Given the description of an element on the screen output the (x, y) to click on. 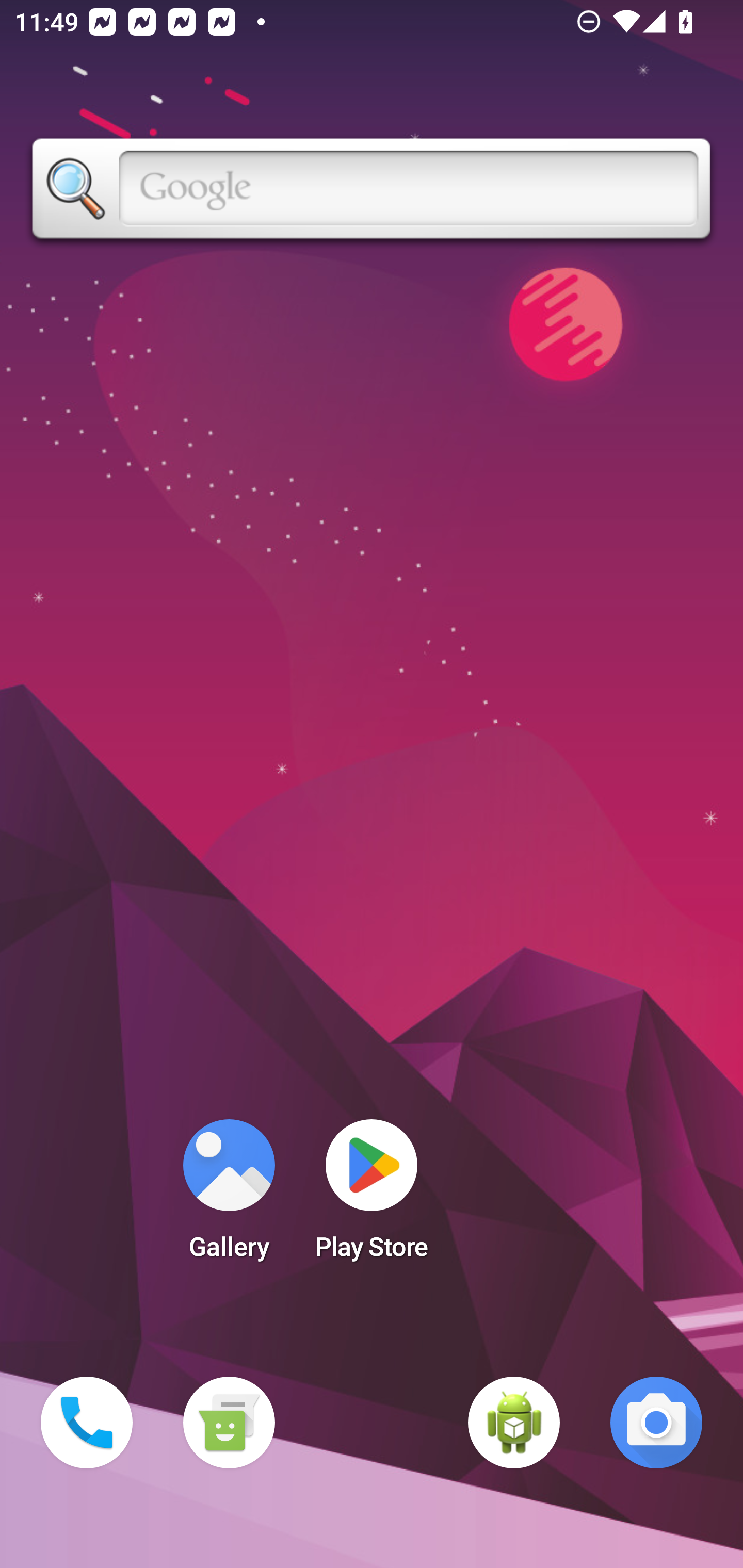
Gallery (228, 1195)
Play Store (371, 1195)
Phone (86, 1422)
Messaging (228, 1422)
WebView Browser Tester (513, 1422)
Camera (656, 1422)
